Given the description of an element on the screen output the (x, y) to click on. 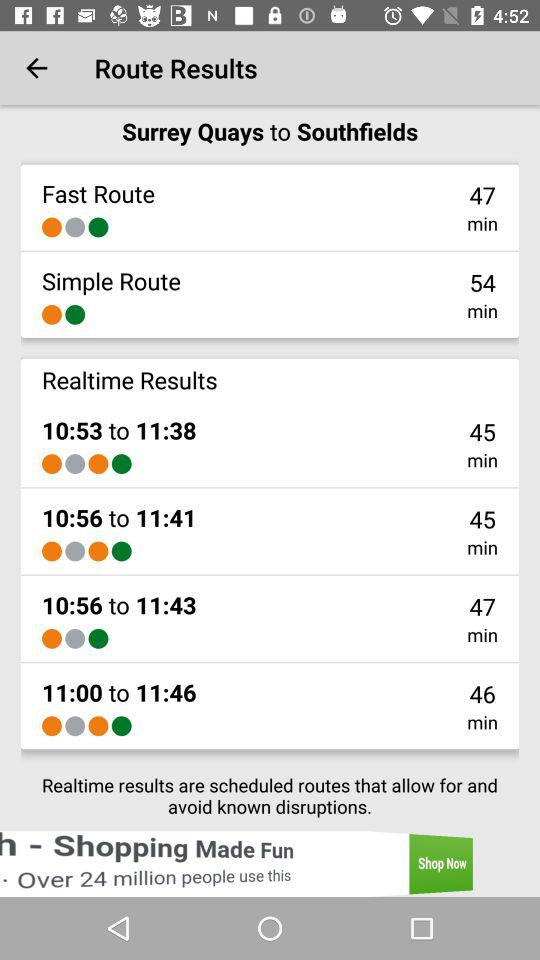
turn on the icon above the realtime results are item (51, 726)
